Given the description of an element on the screen output the (x, y) to click on. 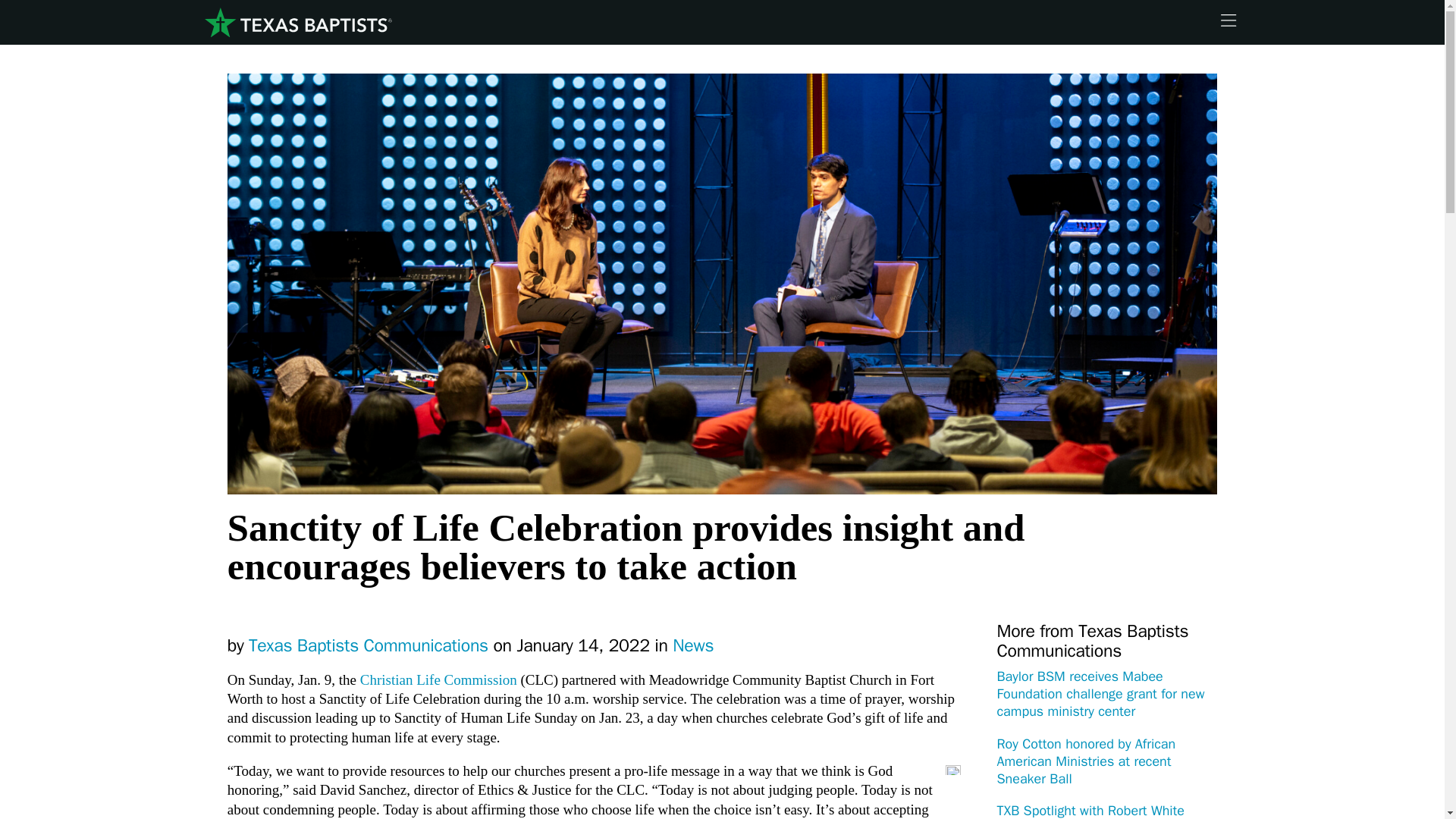
News (692, 645)
Texas Baptists Communications (367, 645)
Christian Life Commission (437, 679)
Home (297, 22)
TXB Spotlight with Robert White (1090, 810)
